Given the description of an element on the screen output the (x, y) to click on. 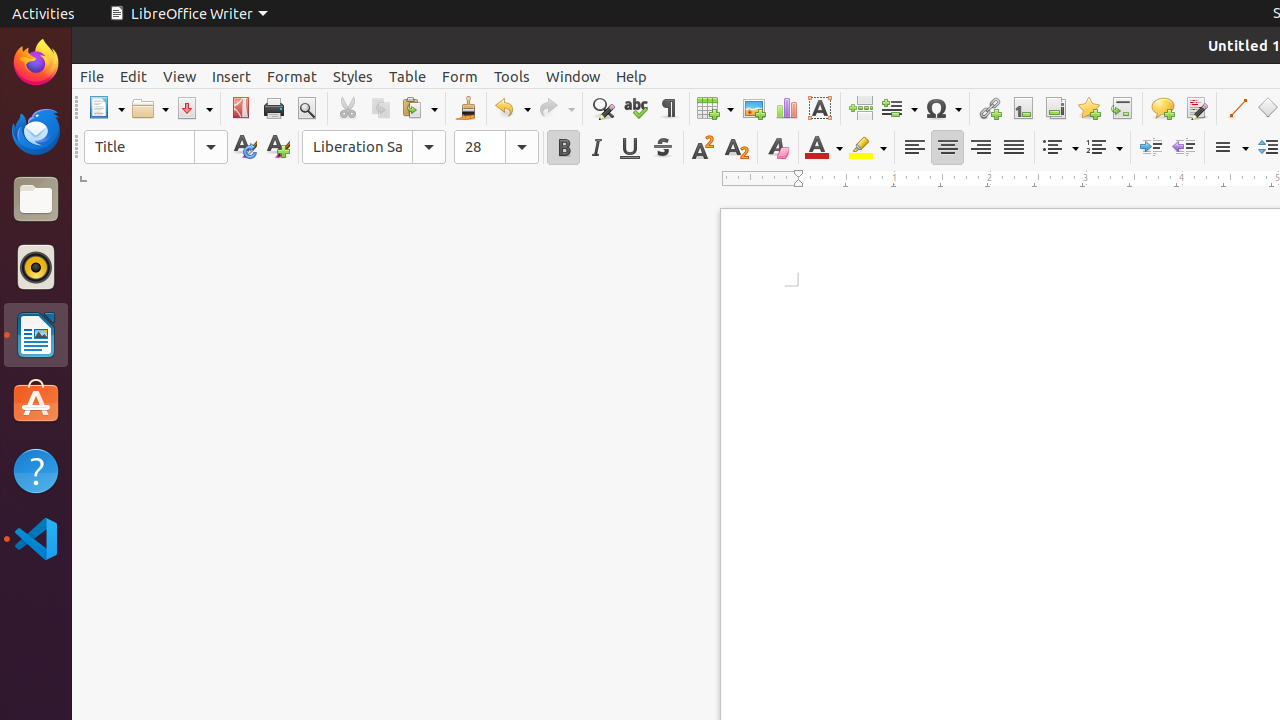
PDF Element type: push-button (240, 108)
Cross-reference Element type: push-button (1121, 108)
Endnote Element type: push-button (1055, 108)
Justified Element type: toggle-button (1013, 147)
Font Color Element type: push-button (824, 147)
